Given the description of an element on the screen output the (x, y) to click on. 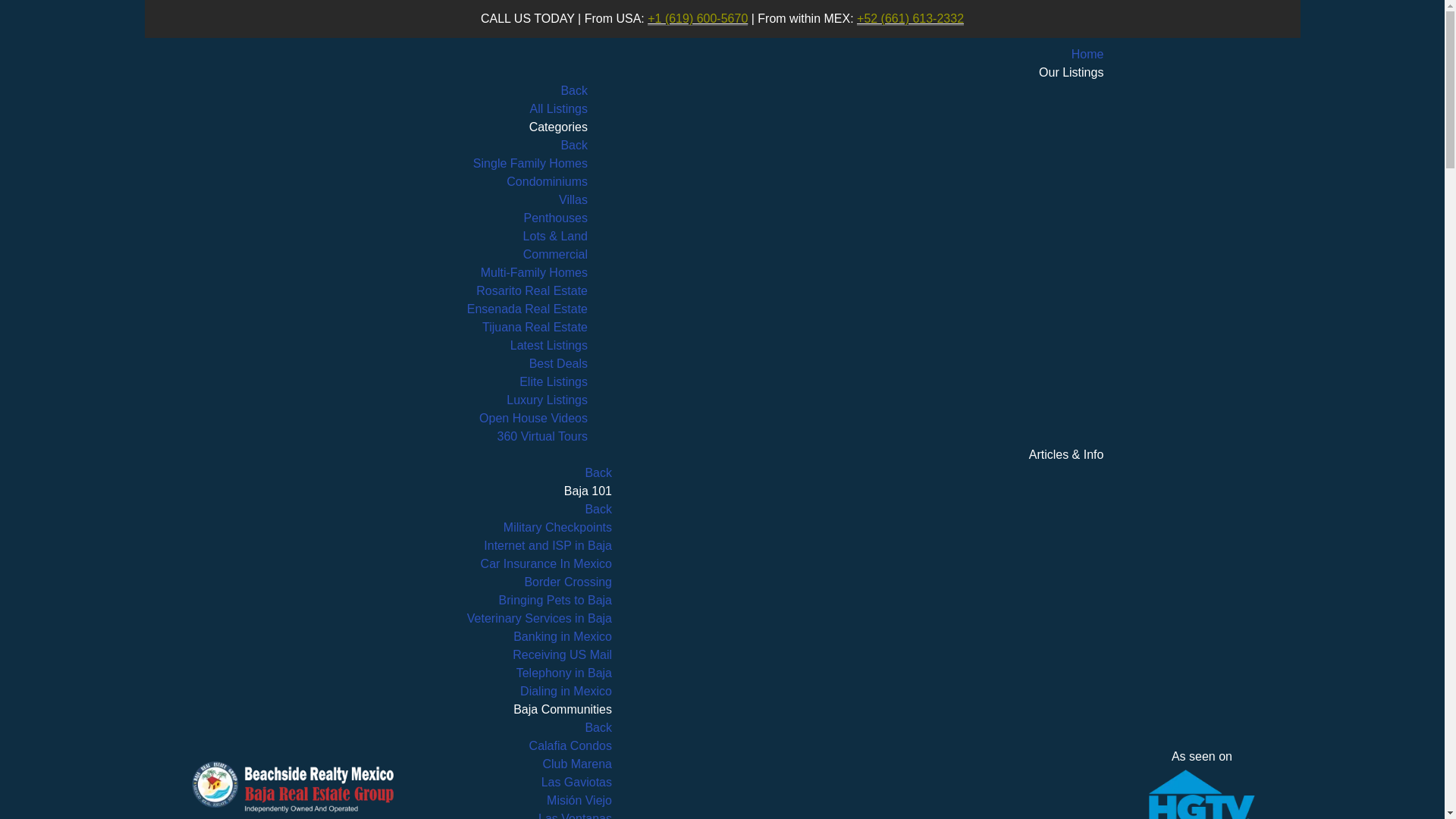
Back (598, 727)
Commercial (555, 254)
All Listings (558, 108)
Villas (573, 199)
Home (1087, 53)
Ensenada Real Estate (527, 308)
Banking in Mexico (562, 635)
Best Deals (558, 363)
Military Checkpoints (557, 526)
Receiving US Mail (561, 654)
Bringing Pets to Baja (555, 599)
Elite Listings (553, 381)
Rosarito Real Estate (532, 290)
Veterinary Services in Baja (539, 617)
Tijuana Real Estate (534, 327)
